Given the description of an element on the screen output the (x, y) to click on. 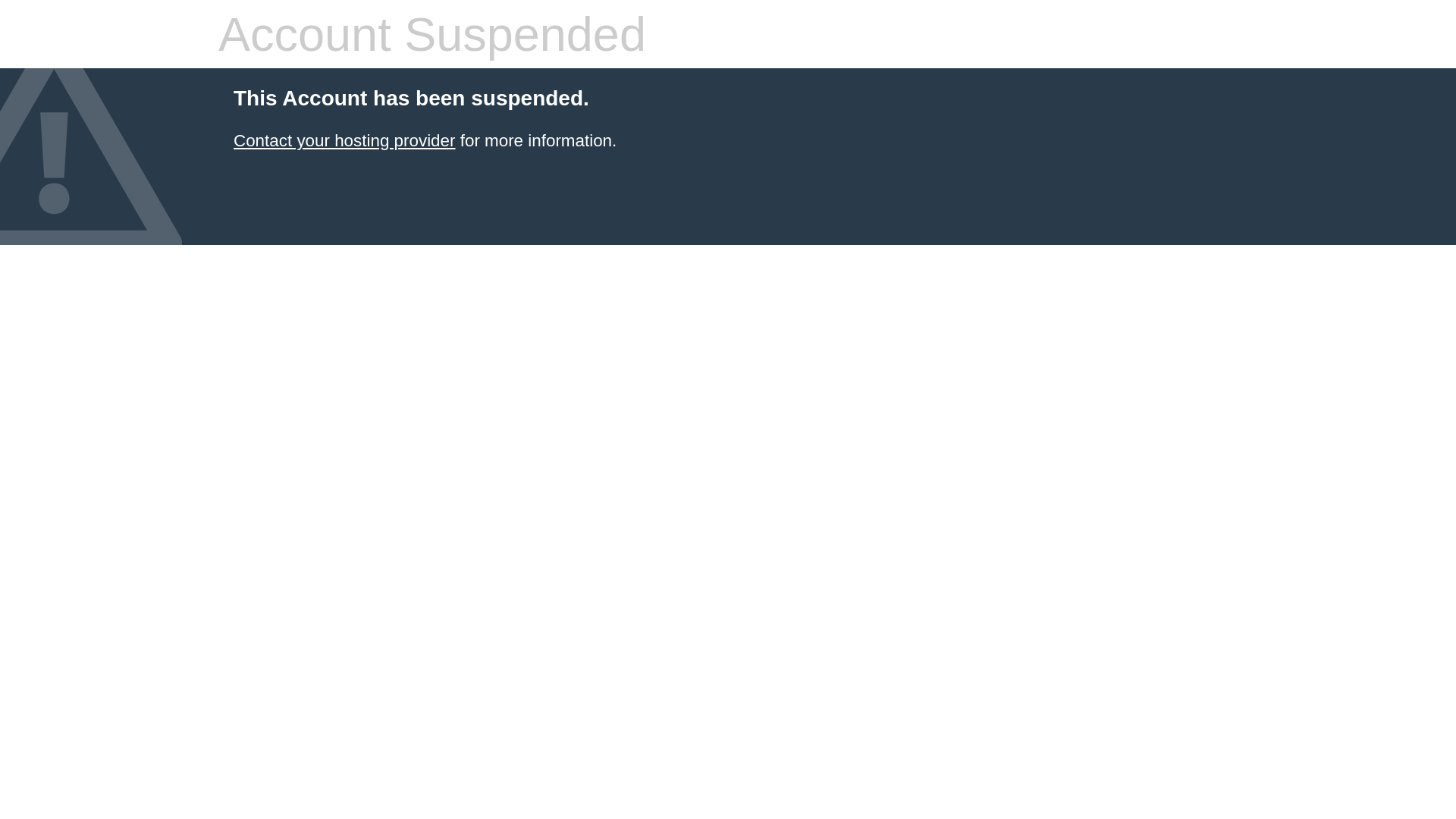
Contact your hosting provider Element type: text (344, 140)
